Given the description of an element on the screen output the (x, y) to click on. 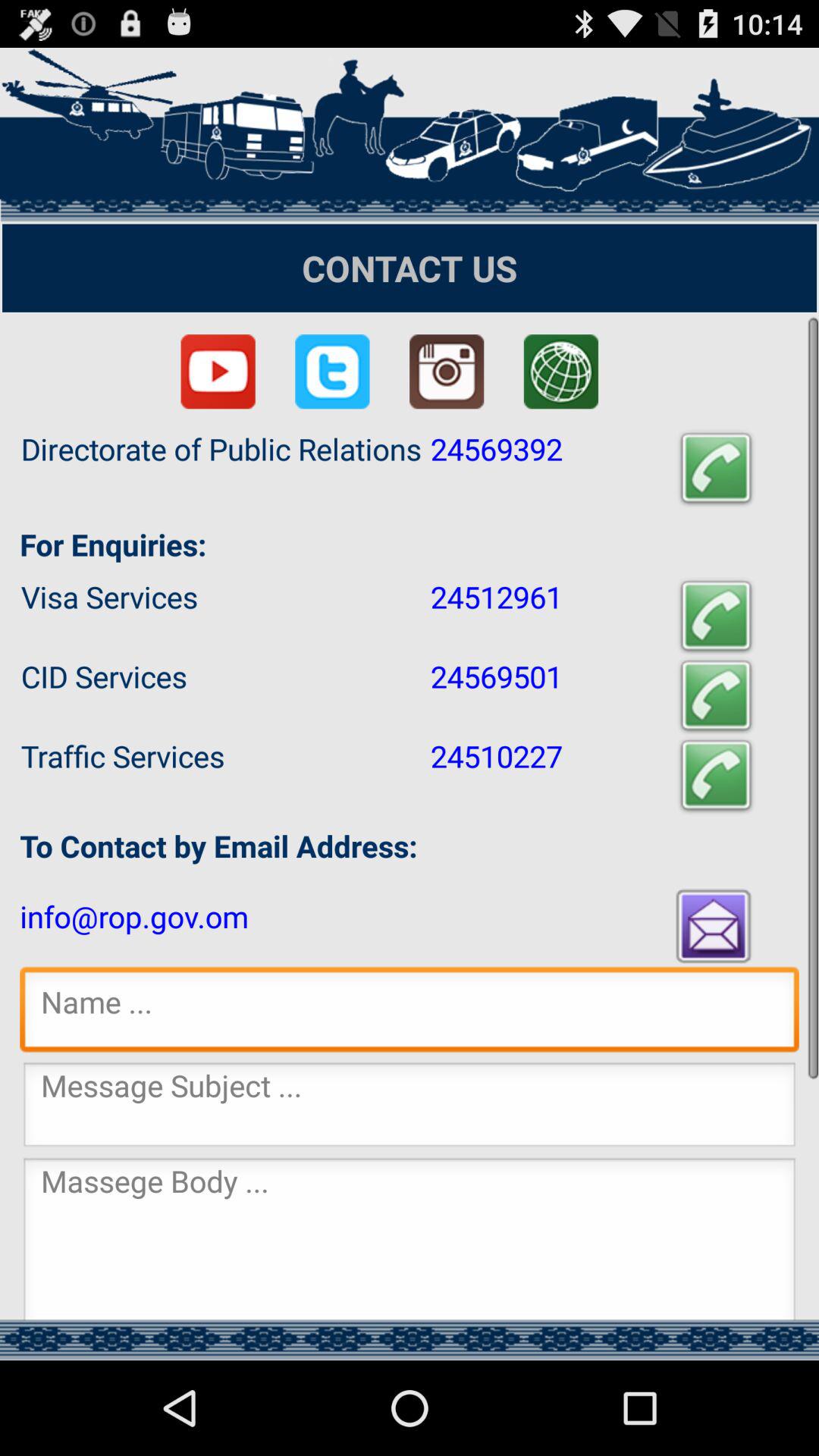
email (715, 925)
